Given the description of an element on the screen output the (x, y) to click on. 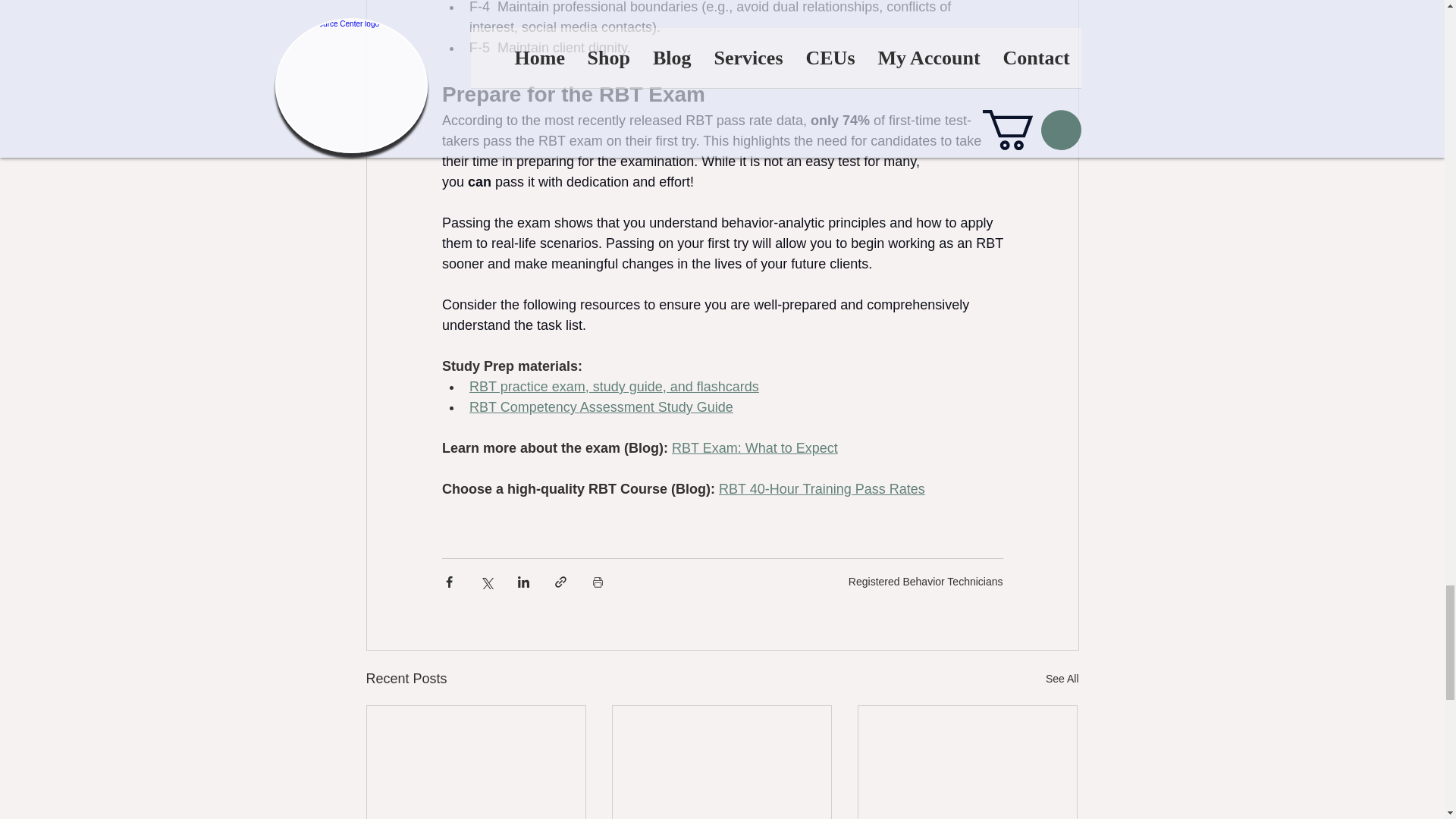
RBT 40-Hour Training Pass Rates (821, 488)
See All (1061, 679)
RBT practice exam, study guide, and flashcards (613, 386)
Registered Behavior Technicians (925, 580)
RBT Competency Assessment Study Guide (600, 406)
RBT Exam: What to Expect (754, 447)
